Given the description of an element on the screen output the (x, y) to click on. 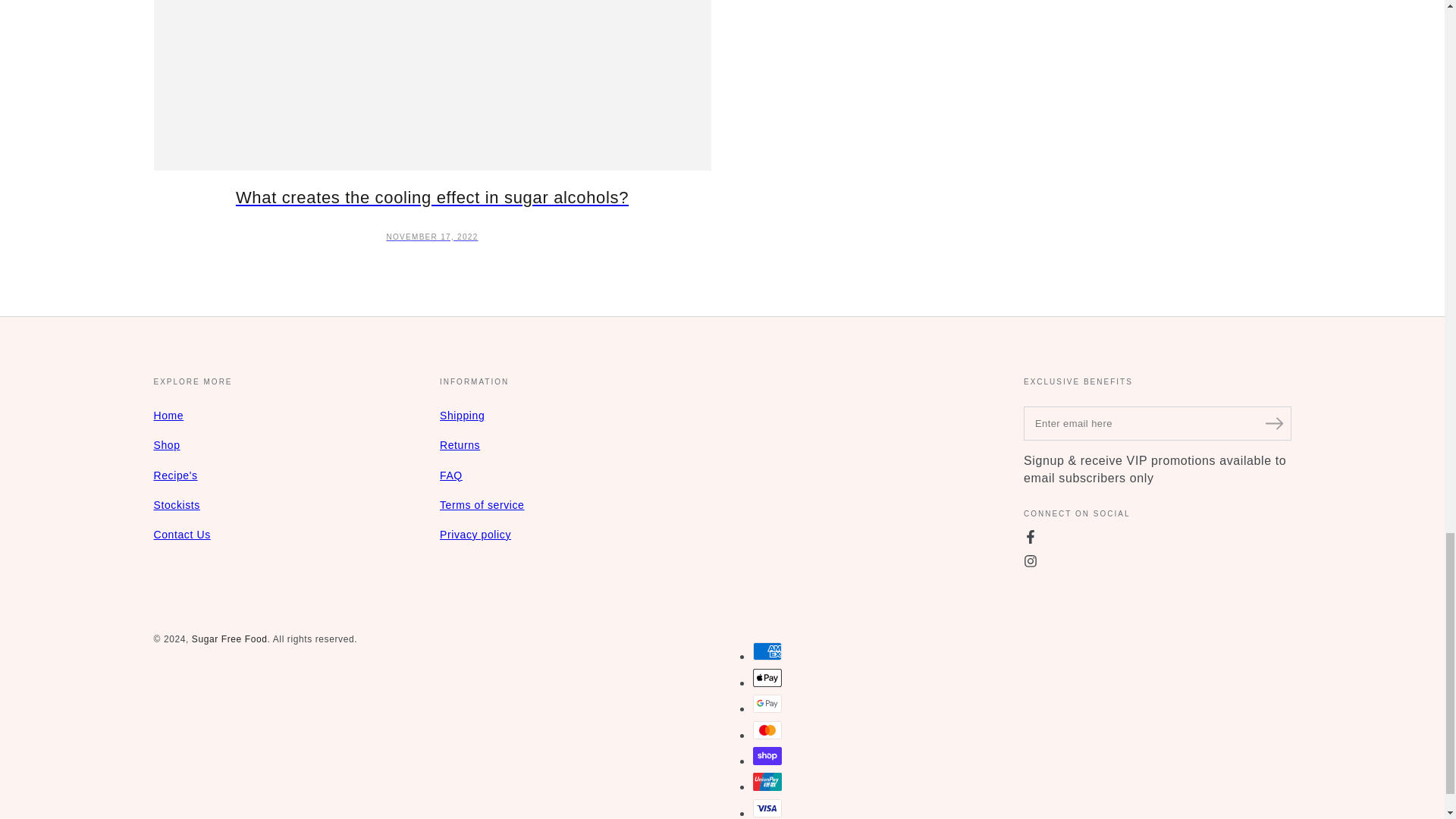
Apple Pay (766, 678)
Visa (766, 808)
Mastercard (766, 730)
Shop Pay (766, 755)
Google Pay (766, 703)
American Express (766, 651)
Union Pay (766, 782)
